Given the description of an element on the screen output the (x, y) to click on. 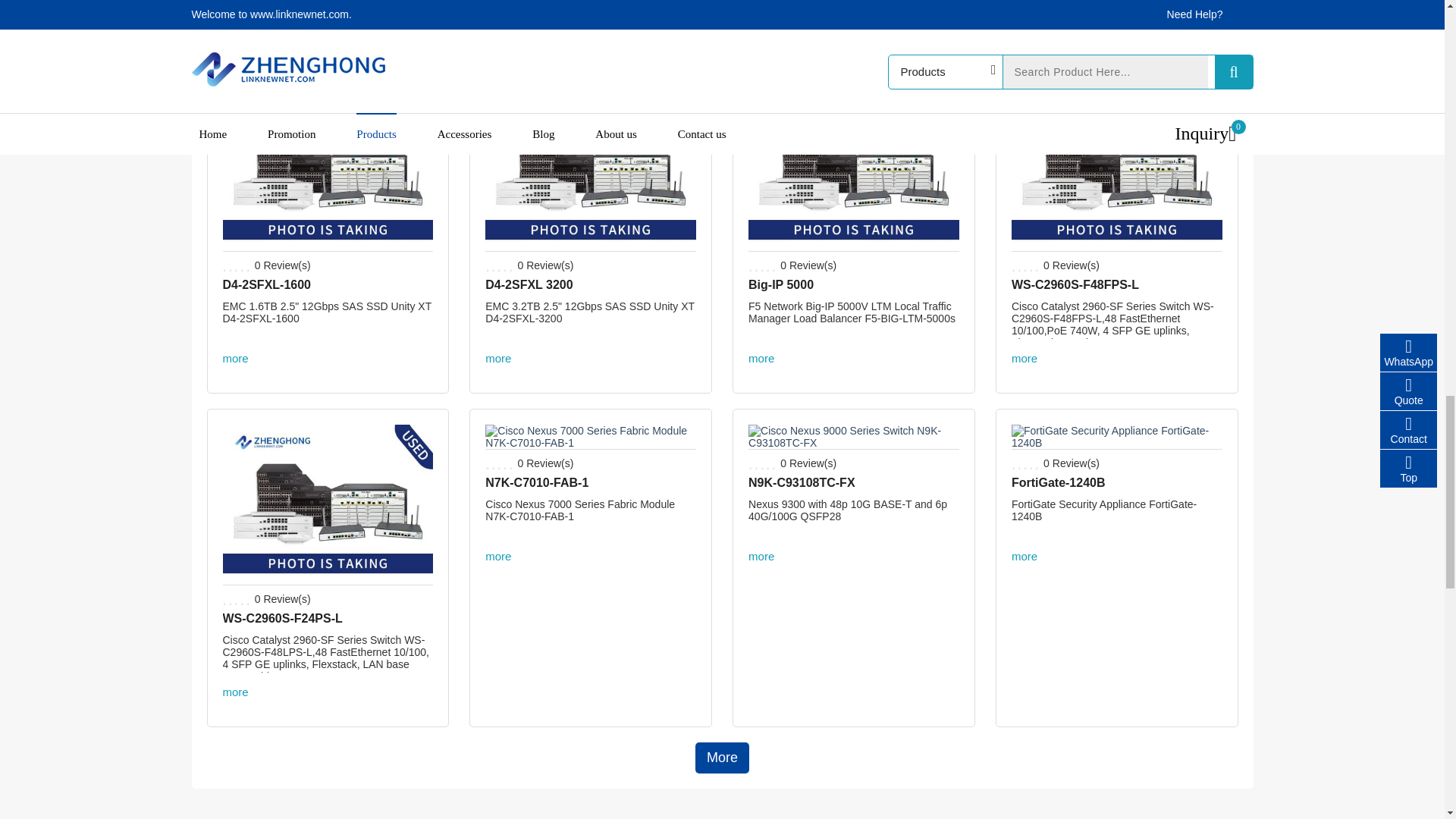
Cisco Catalyst 2960-SF Series Switch WS-C2960S-F48LPS-L (327, 578)
EMC 3.2TB 2.5" 12Gbps SAS SSD Unity XT D4-2SFXL-3200 (589, 244)
Cisco Nexus 9000 Series Switch N9K-C93108TC-FX (853, 442)
Cisco Catalyst 2960-SF Series Switch WS-C2960S-F48FPS-L (1117, 244)
 FortiGate Security Appliance  FortiGate-1240B (1058, 481)
EMC 1.6TB 2.5" 12Gbps SAS SSD Unity XT D4-2SFXL-1600 (266, 284)
F5 BIG-IP 4000 Series Load Balancer F5-BIG-LTM-5000S (853, 244)
Cisco Nexus 7000 Series Fabric Module N7K-C7010-FAB-1 (536, 481)
Cisco Catalyst 2960-SF Series Switch WS-C2960S-F48LPS-L (282, 617)
Cisco Nexus 7000 Series Fabric Module N7K-C7010-FAB-1 (589, 442)
